Given the description of an element on the screen output the (x, y) to click on. 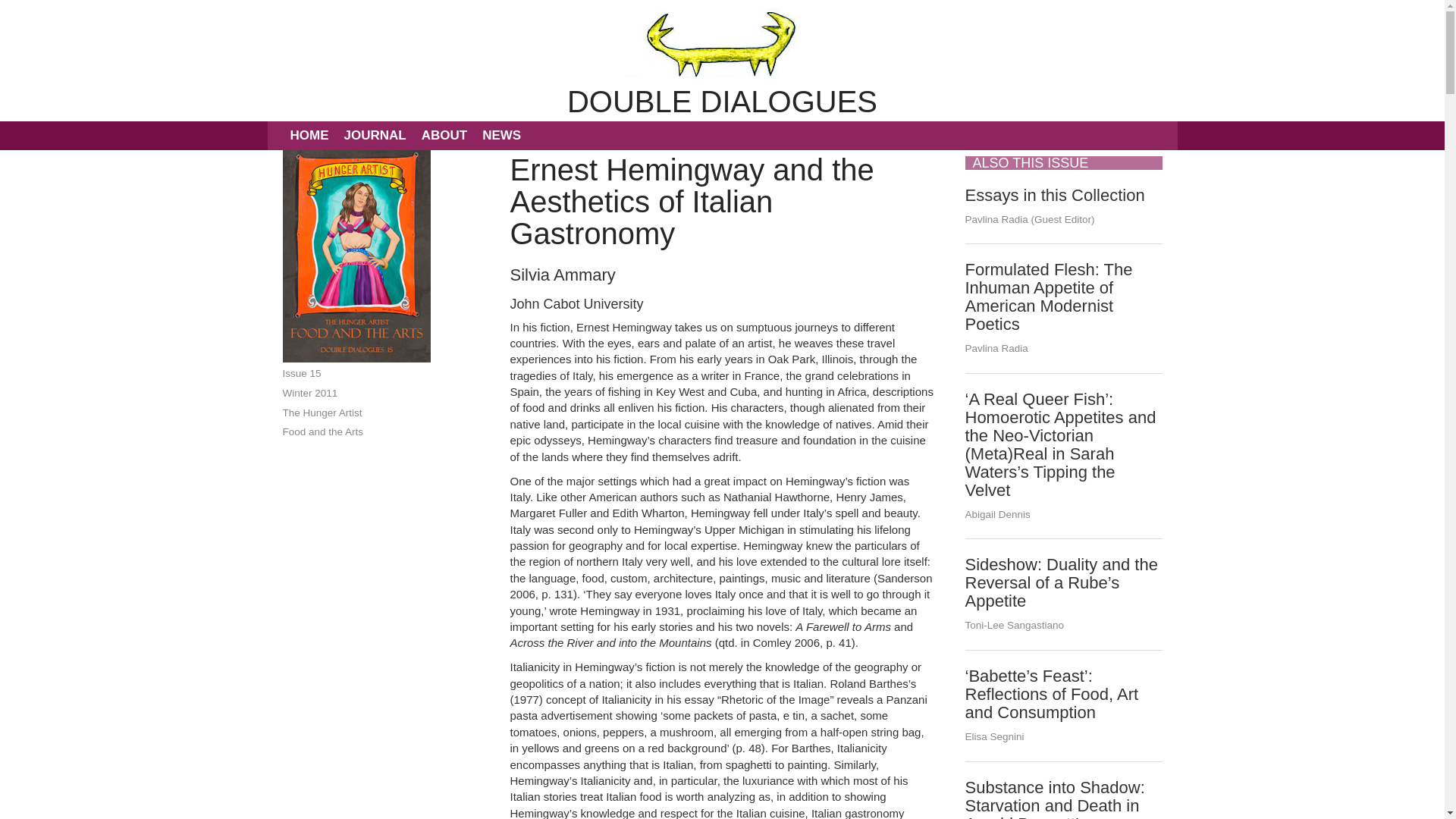
HOME (309, 135)
Essays in this Collection (1053, 194)
NEWS (501, 135)
Journal (374, 135)
ABOUT (443, 135)
JOURNAL (374, 135)
